Given the description of an element on the screen output the (x, y) to click on. 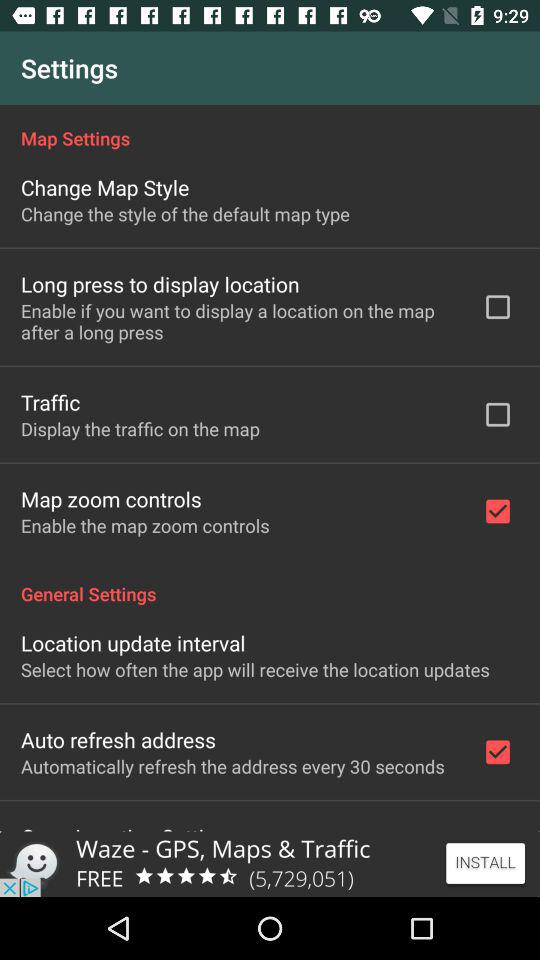
choose the automatically refresh the app (232, 766)
